Given the description of an element on the screen output the (x, y) to click on. 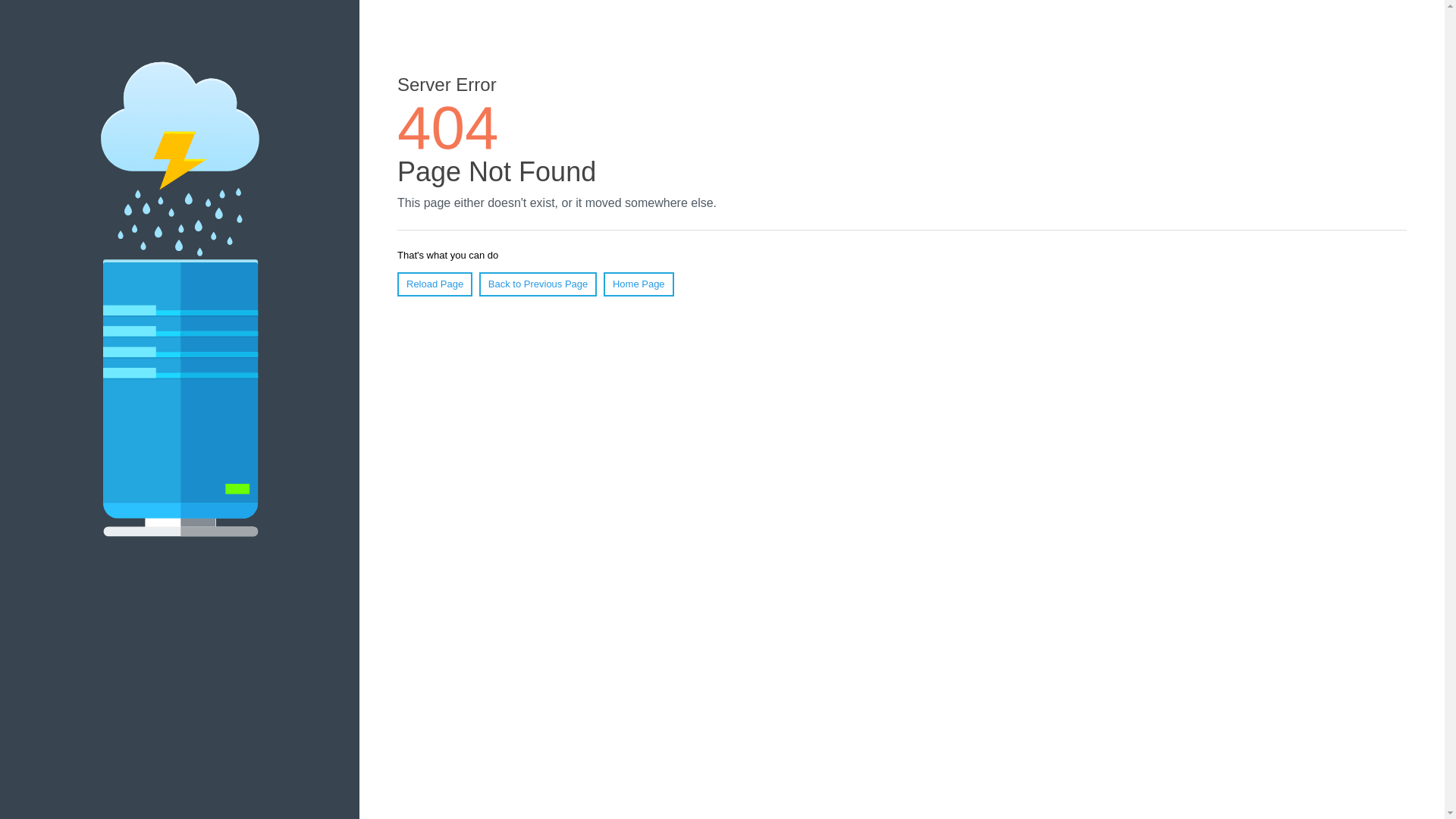
Back to Previous Page Element type: text (538, 284)
Home Page Element type: text (638, 284)
Reload Page Element type: text (434, 284)
